Given the description of an element on the screen output the (x, y) to click on. 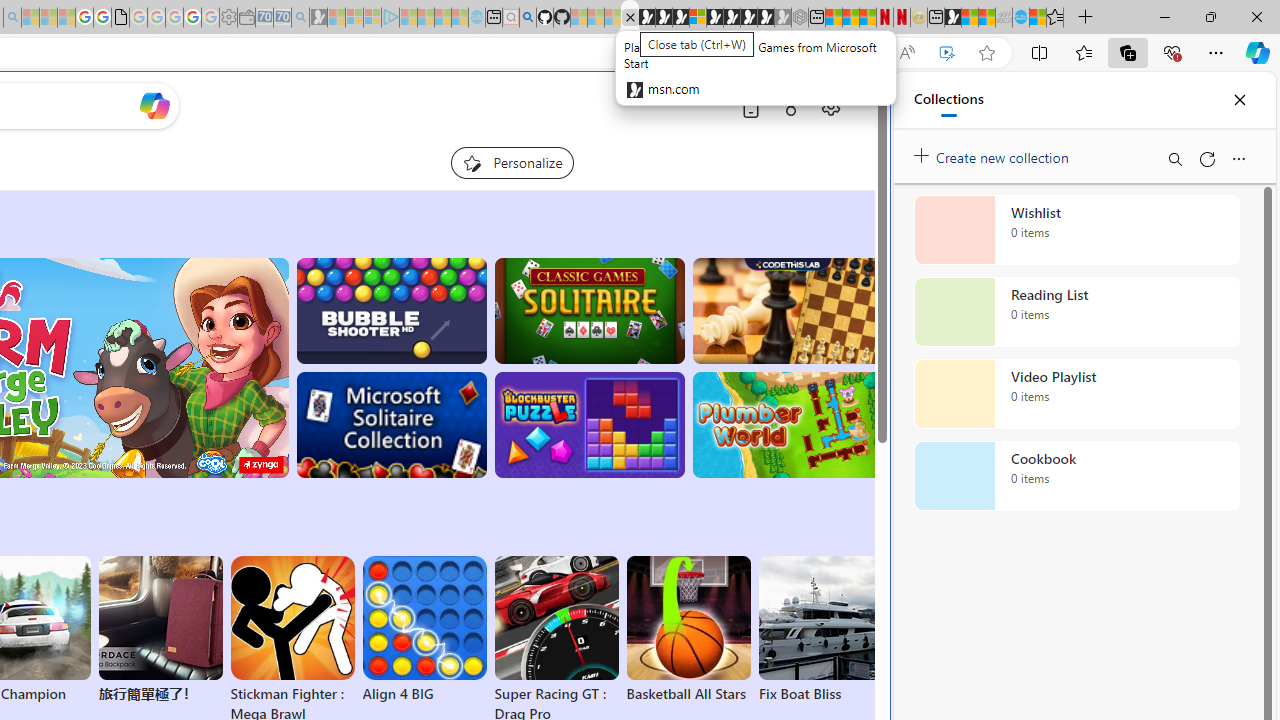
Enhance video (946, 53)
Reading List collection, 0 items (1076, 312)
Align 4 BIG (424, 629)
Cookbook collection, 0 items (1076, 475)
Master Chess (787, 310)
Plumber World (787, 425)
